Given the description of an element on the screen output the (x, y) to click on. 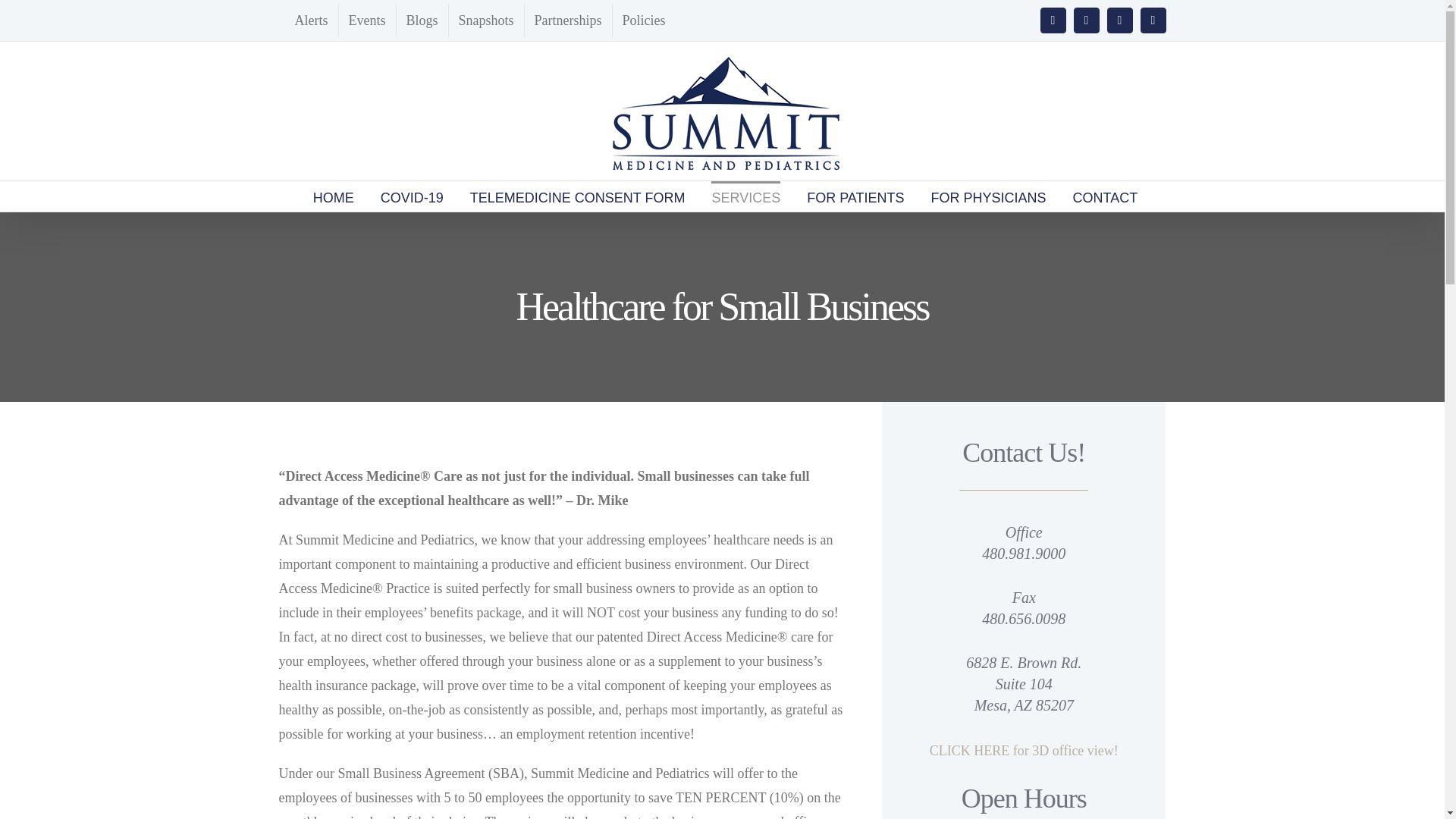
SERVICES (745, 195)
COVID-19 (412, 195)
FOR PATIENTS (855, 195)
Twitter (1086, 20)
TELEMEDICINE CONSENT FORM (577, 195)
CONTACT (1105, 195)
Twitter (1086, 20)
Instagram (1119, 20)
Partnerships (567, 20)
Events (365, 20)
